Given the description of an element on the screen output the (x, y) to click on. 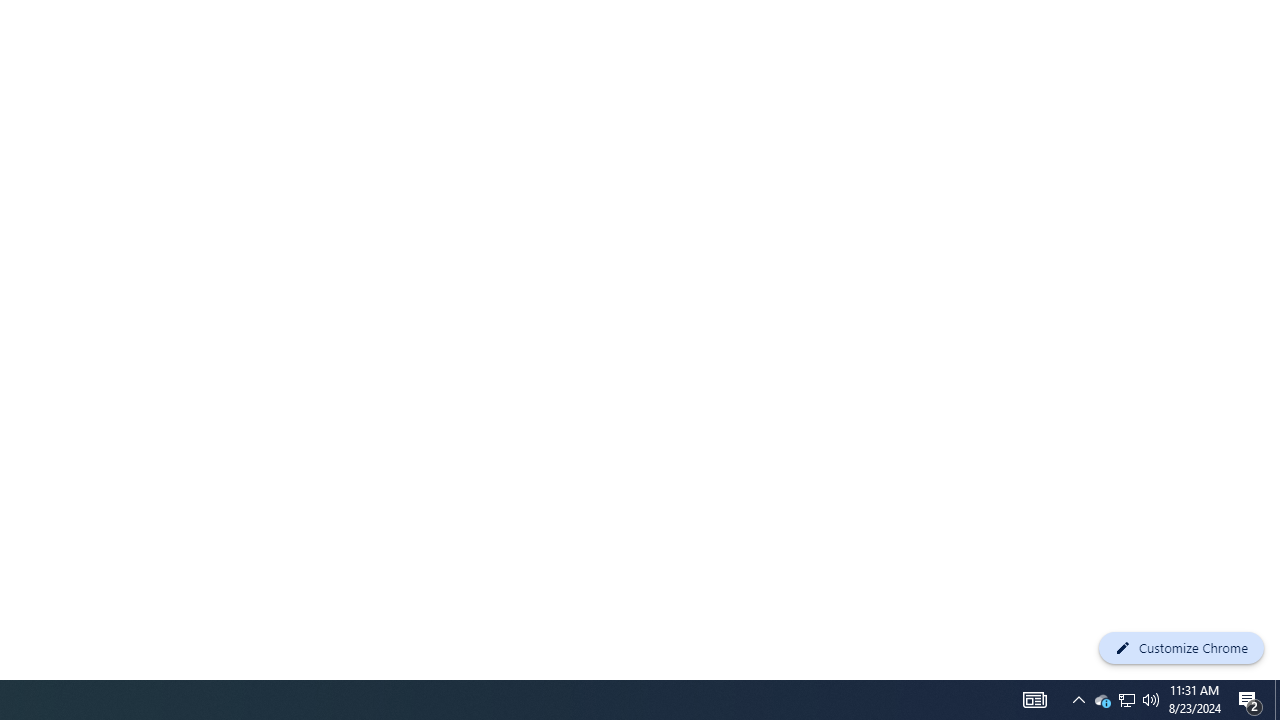
Customize Chrome (1181, 647)
